Given the description of an element on the screen output the (x, y) to click on. 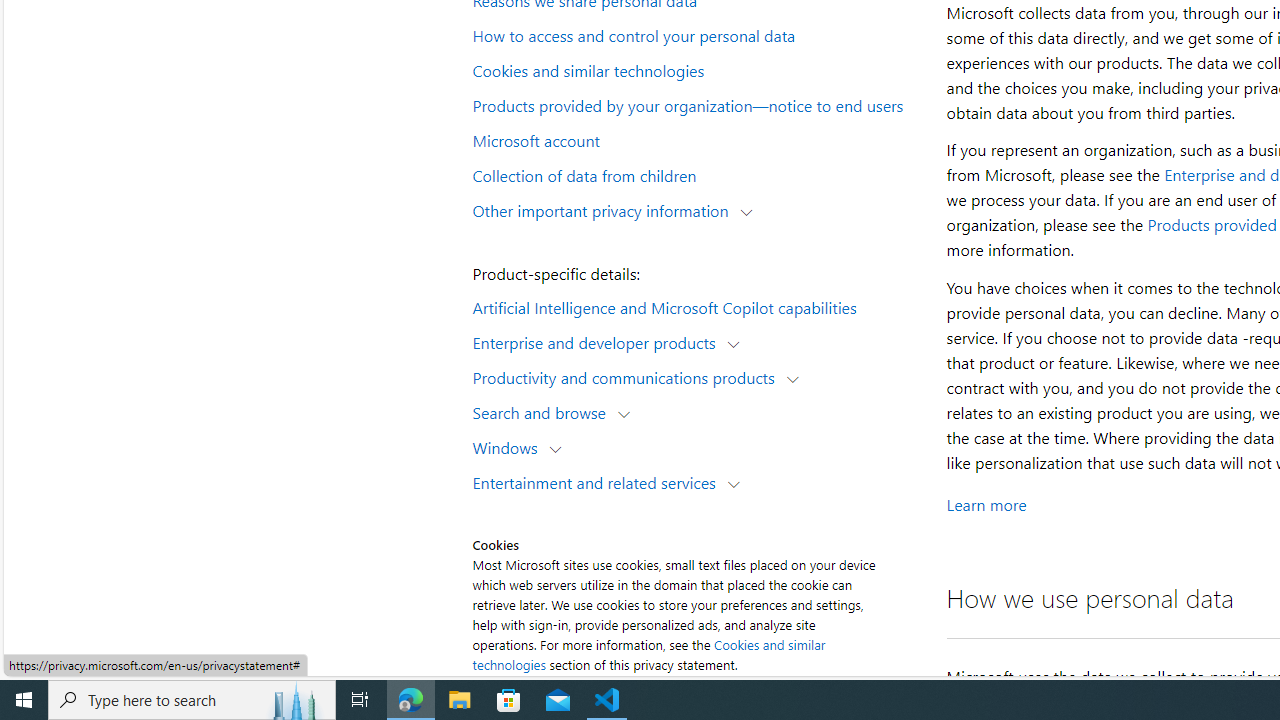
Entertainment and related services (598, 481)
Collection of data from children (696, 174)
Microsoft account (696, 139)
Learn more about Personal data we collect (985, 504)
Artificial Intelligence and Microsoft Copilot capabilities (696, 306)
Other important privacy information (605, 209)
How to access and control your personal data (696, 35)
Cookies and similar technologies (696, 69)
Windows (509, 446)
Enterprise and developer products (598, 341)
Productivity and communications products (628, 376)
Search and browse (543, 412)
Cookies and similar technologies (648, 654)
